Given the description of an element on the screen output the (x, y) to click on. 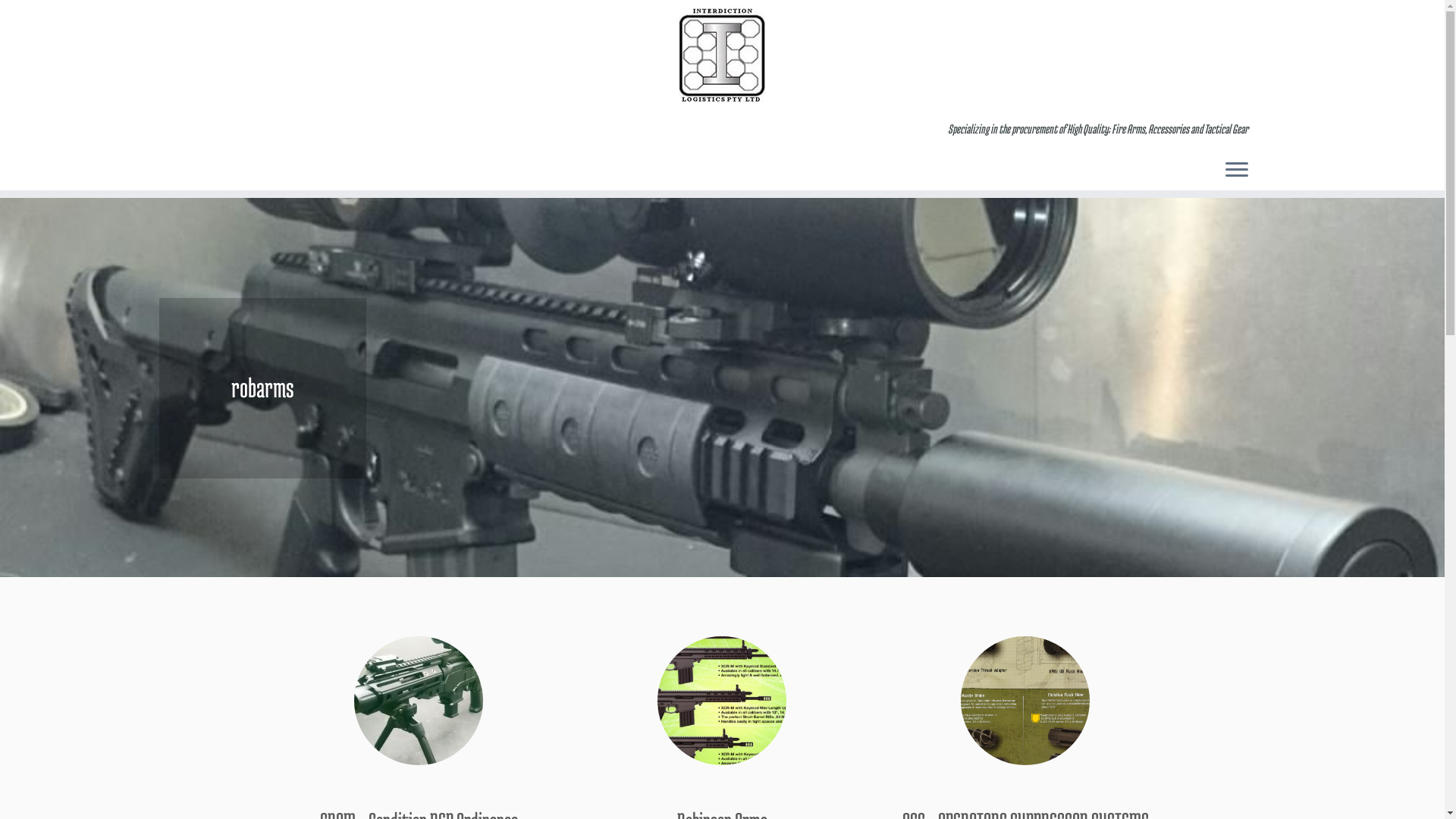
Open the menu Element type: hover (1236, 170)
